Given the description of an element on the screen output the (x, y) to click on. 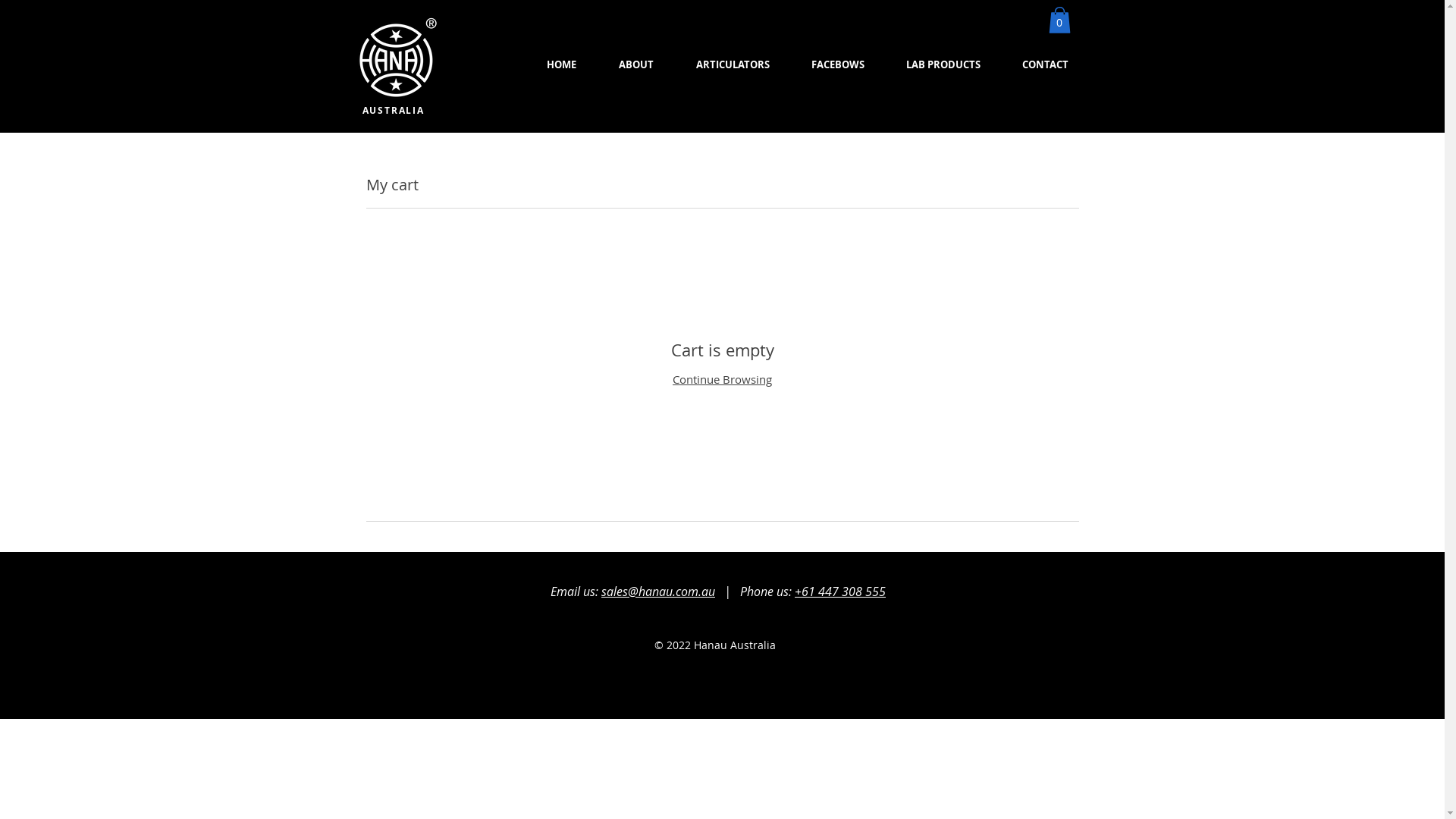
CONTACT Element type: text (1044, 64)
ABOUT Element type: text (635, 64)
sales@hanau.com.au Element type: text (658, 591)
ARTICULATORS Element type: text (732, 64)
0 Element type: text (1059, 19)
   |    Element type: text (727, 591)
HOME Element type: text (560, 64)
+61 447 308 555 Element type: text (839, 591)
Continue Browsing Element type: text (721, 378)
FACEBOWS Element type: text (837, 64)
LAB PRODUCTS Element type: text (943, 64)
